Given the description of an element on the screen output the (x, y) to click on. 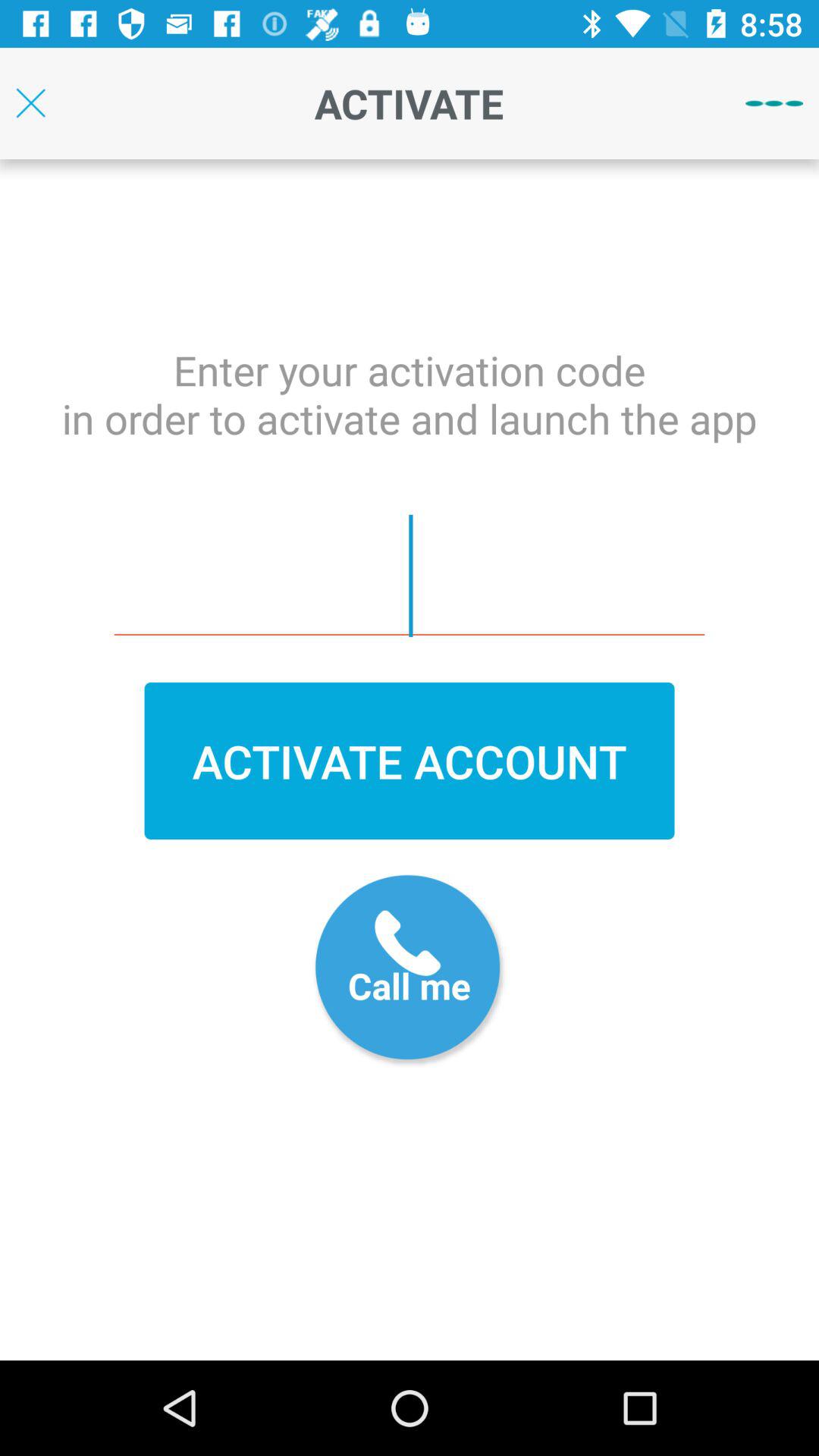
menu item (774, 103)
